Given the description of an element on the screen output the (x, y) to click on. 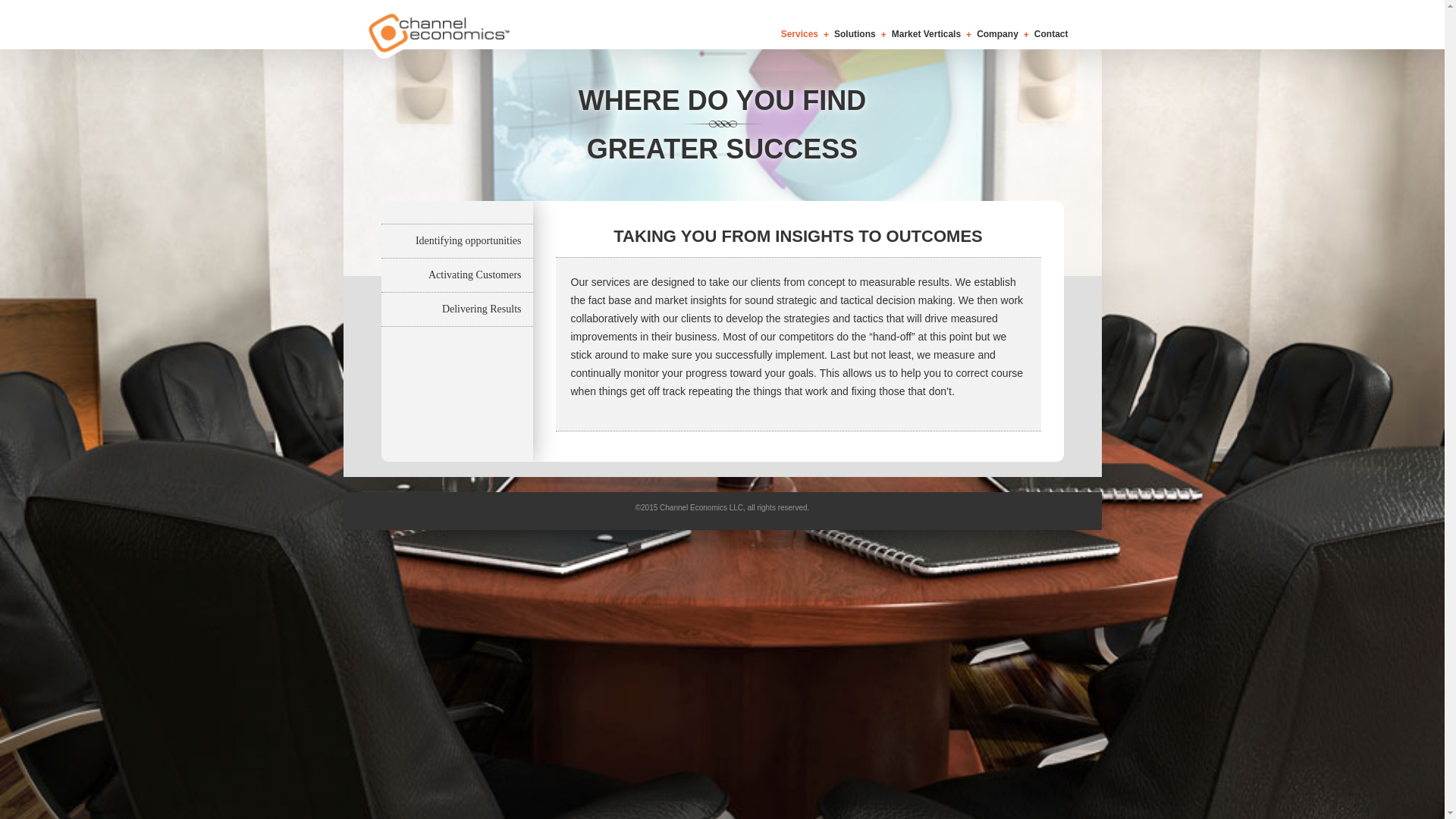
Contact (1050, 33)
Activating Customers (456, 274)
Services (799, 33)
Market Verticals (925, 33)
Delivering Results (456, 308)
Company (996, 33)
Solutions (855, 33)
Identifying opportunities (456, 240)
